Given the description of an element on the screen output the (x, y) to click on. 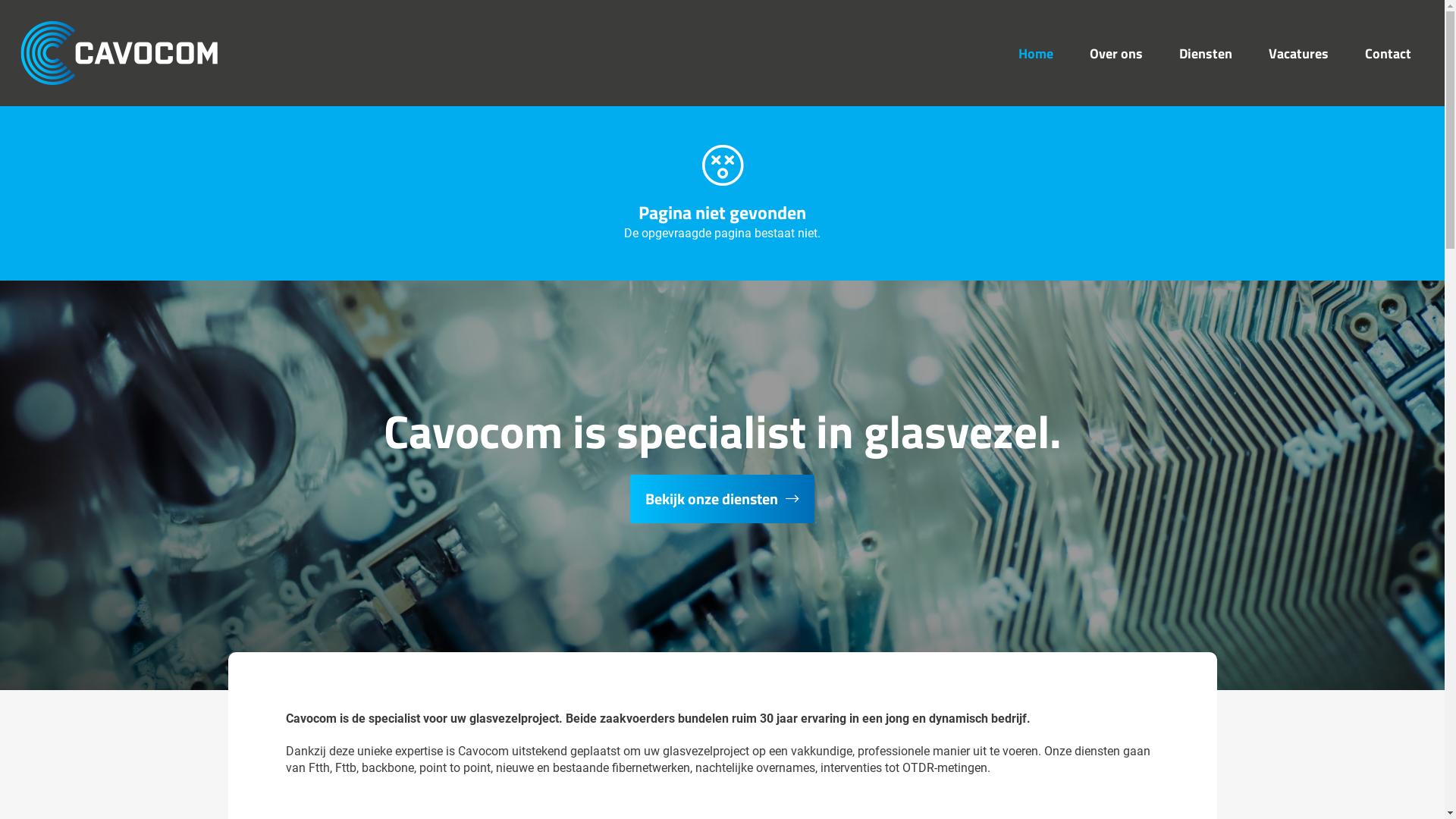
Bekijk onze diensten Element type: text (722, 498)
Contact Element type: text (1387, 52)
Home Element type: text (1035, 52)
Vacatures Element type: text (1298, 52)
Diensten Element type: text (1205, 52)
Cavocom Element type: hover (119, 52)
Over ons Element type: text (1116, 52)
